Given the description of an element on the screen output the (x, y) to click on. 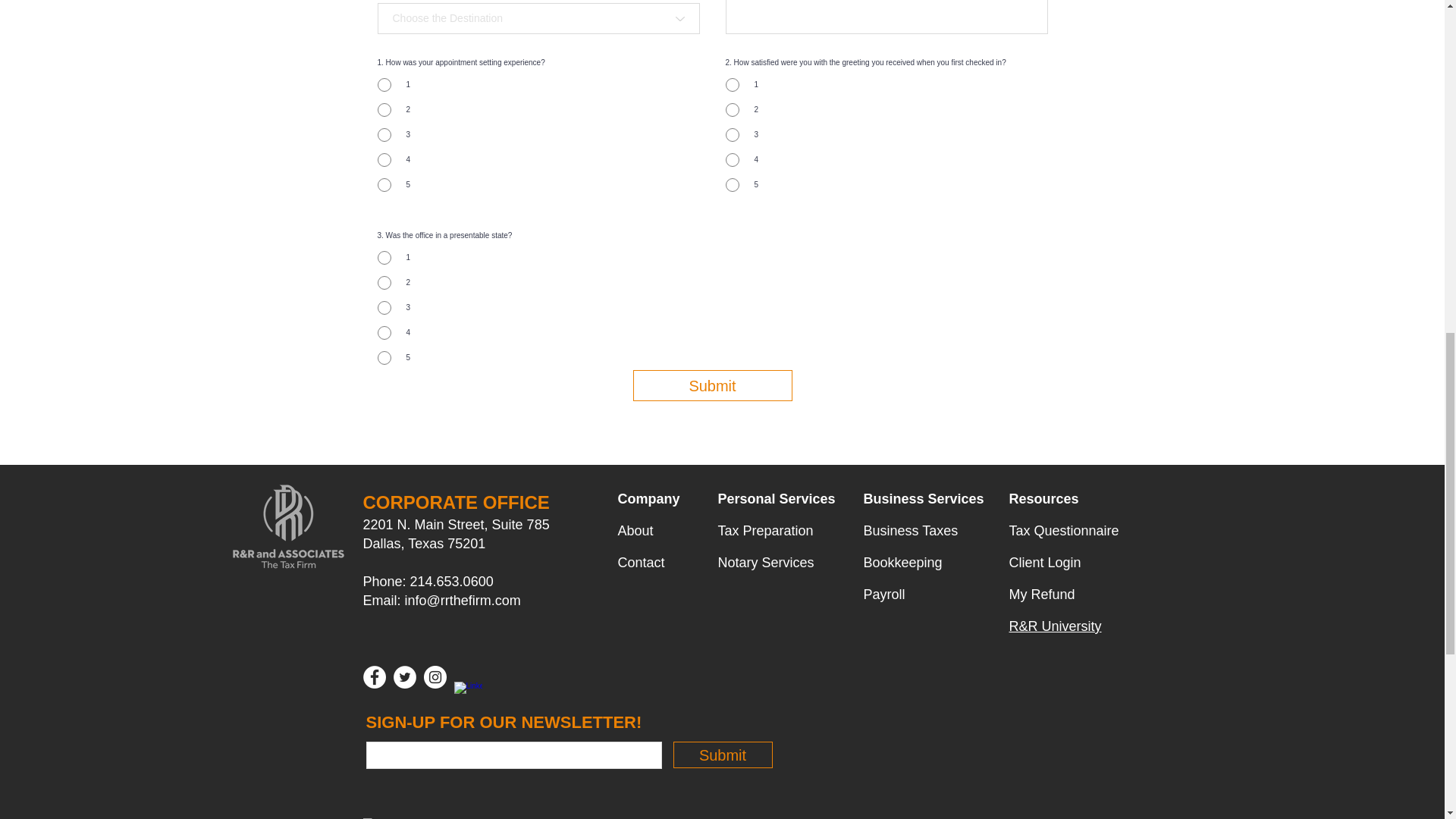
About (634, 530)
Tax Preparation (764, 530)
Notary Services (765, 562)
Bookkeeping (902, 562)
Business Taxes (910, 530)
My Refund (1041, 594)
Payroll (883, 594)
Submit (711, 385)
Tax Questionnaire (1063, 530)
Contact (640, 562)
Client Login (1044, 562)
Submit (722, 755)
